Given the description of an element on the screen output the (x, y) to click on. 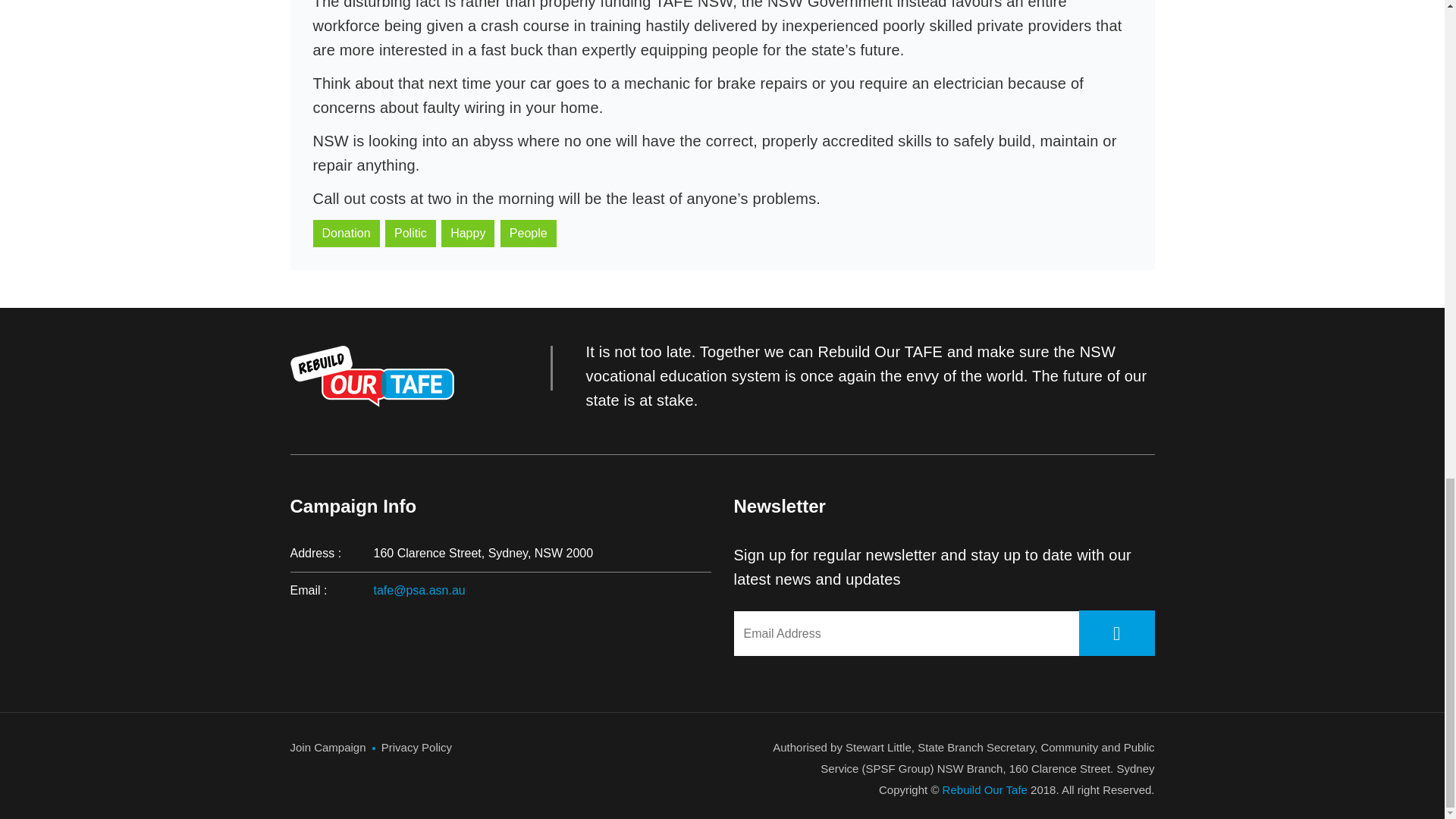
People (528, 233)
Donation (345, 233)
Politic (410, 233)
Happy (468, 233)
Privacy Policy (416, 747)
Join Campaign (327, 747)
Rebuild Our Tafe (984, 789)
wpforms-submit (1116, 633)
